Given the description of an element on the screen output the (x, y) to click on. 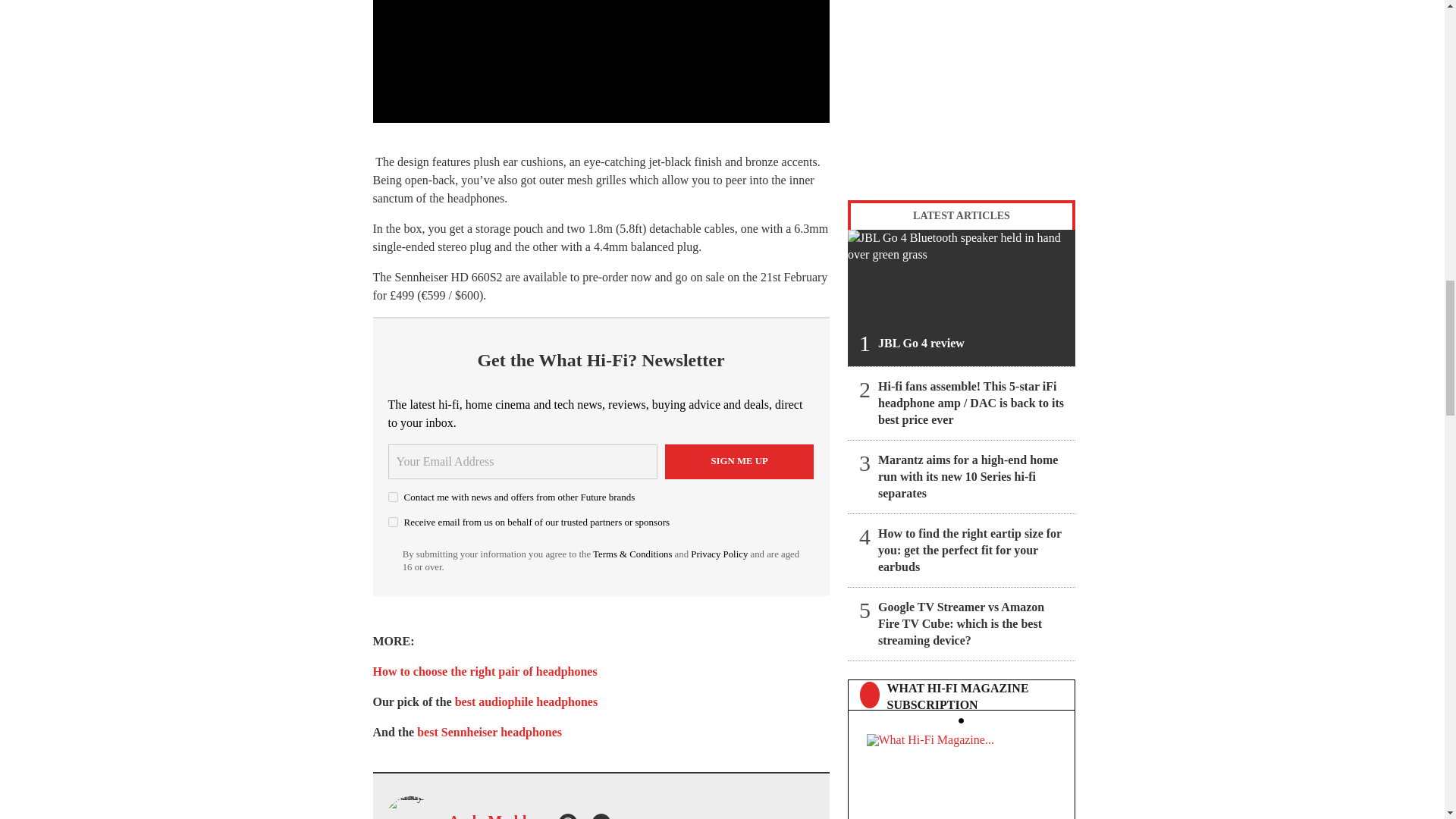
Sign me up (739, 461)
on (392, 497)
JBL Go 4 review (961, 298)
on (392, 521)
What Hi-Fi Magazine... (960, 772)
